Given the description of an element on the screen output the (x, y) to click on. 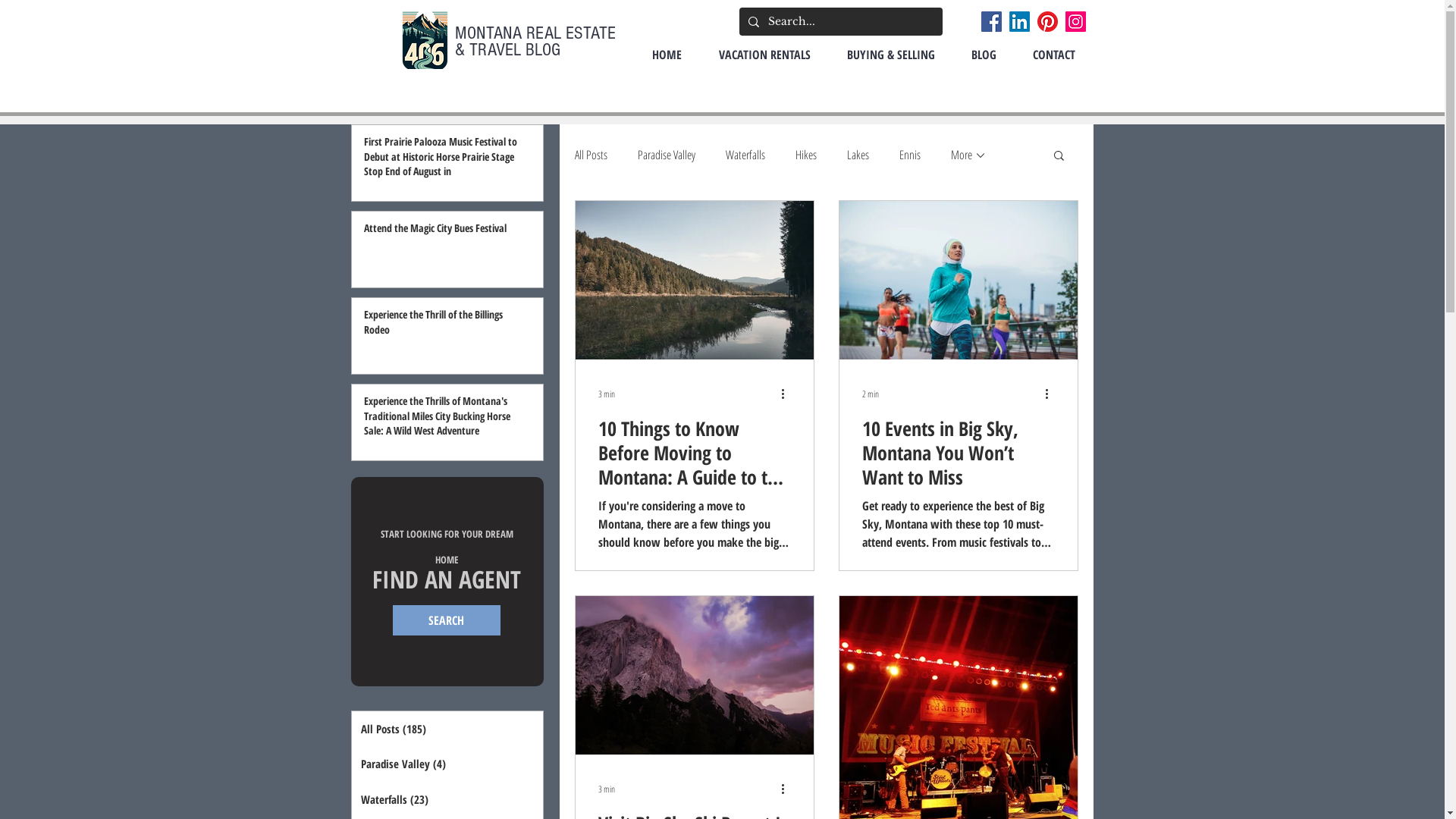
HOME Element type: text (666, 54)
Ennis Element type: text (909, 154)
Experience the Thrill of the Billings Rodeo Element type: text (442, 324)
Hikes Element type: text (804, 154)
SEARCH Element type: text (446, 620)
CONTACT Element type: text (1053, 54)
Attend the Magic City Bues Festival Element type: text (442, 230)
Waterfalls Element type: text (744, 154)
BLOG Element type: text (982, 54)
Waterfalls (23) Element type: text (446, 799)
All Posts (185) Element type: text (446, 728)
MONTANA  Element type: text (490, 32)
All Posts Element type: text (590, 154)
Lakes Element type: text (857, 154)
Paradise Valley Element type: text (665, 154)
Paradise Valley (4) Element type: text (446, 763)
BUYING & SELLING Element type: text (890, 54)
VACATION RENTALS Element type: text (764, 54)
